Given the description of an element on the screen output the (x, y) to click on. 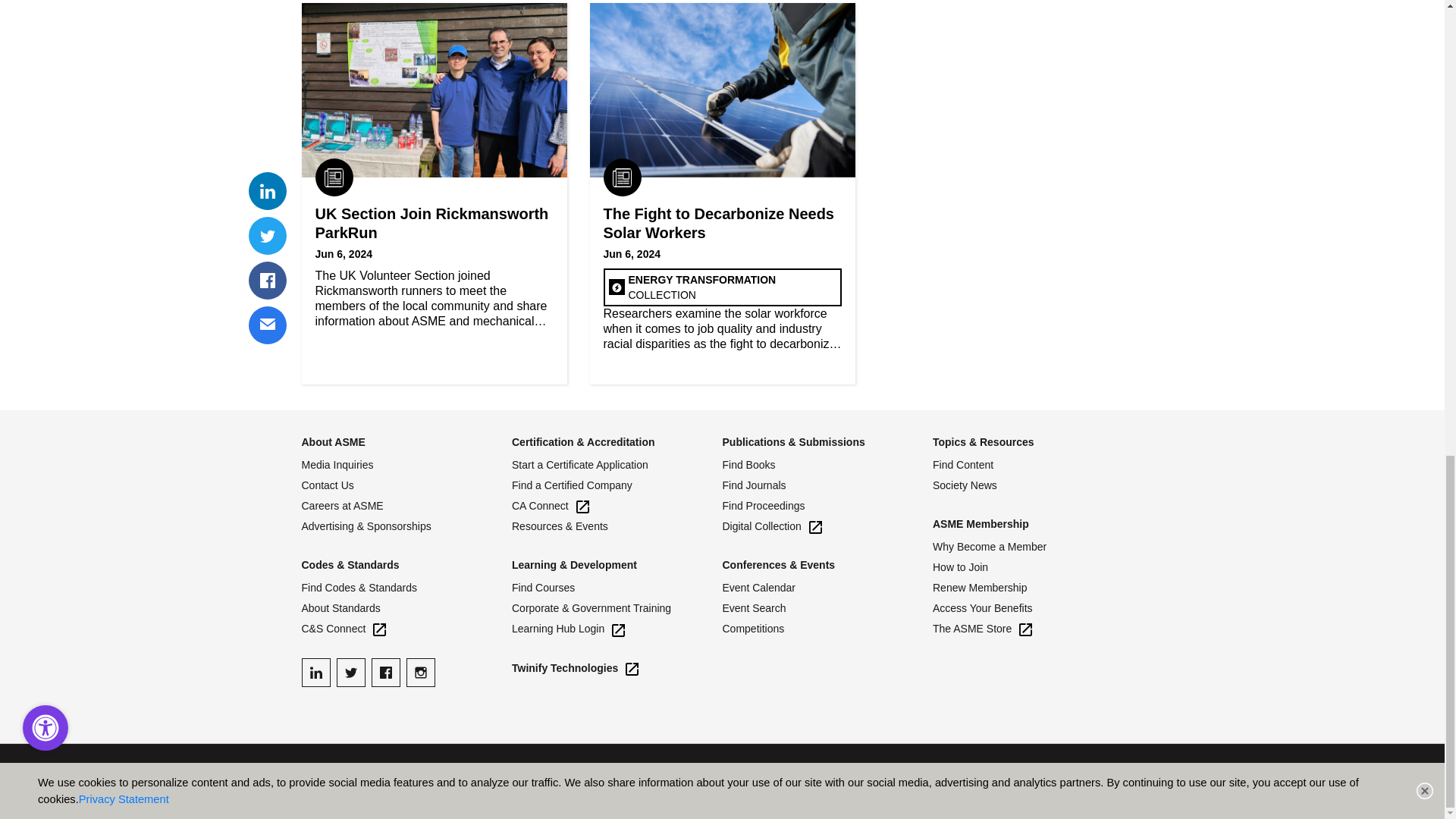
ASME on Twitter (350, 672)
ASME on Facebook (385, 672)
ASME on LinkedIn (315, 672)
ASME on Instagram (420, 672)
